Given the description of an element on the screen output the (x, y) to click on. 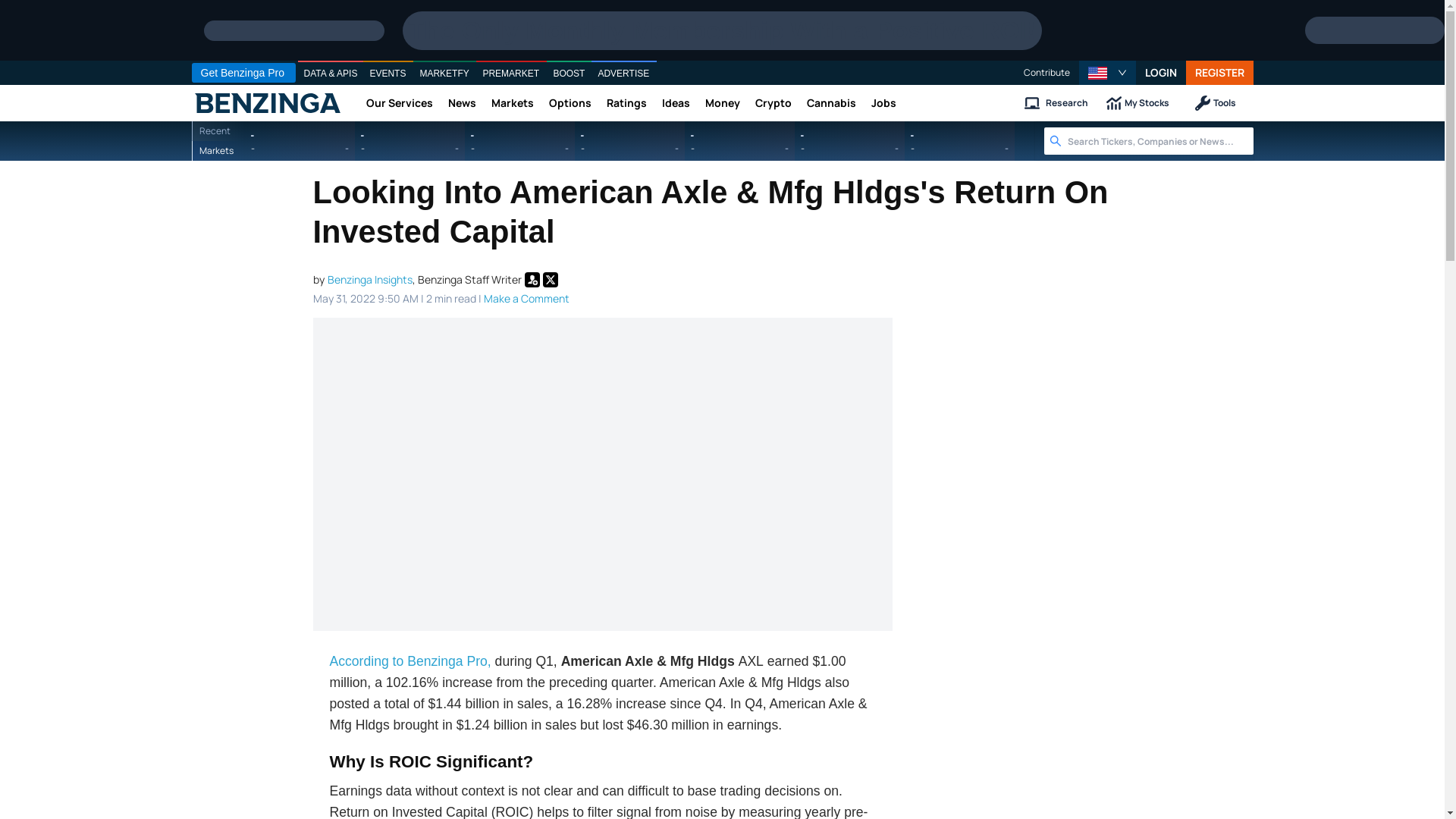
Our Services (398, 103)
LOGIN (1160, 72)
BOOST (569, 73)
ADVERTISE (623, 73)
EVENTS (387, 73)
MARKETFY (444, 73)
News (461, 103)
REGISTER (1219, 72)
USA (1096, 72)
News (461, 103)
Our Services (398, 103)
PREMARKET (511, 73)
Contribute (1046, 72)
Get Benzinga Pro (242, 72)
